Given the description of an element on the screen output the (x, y) to click on. 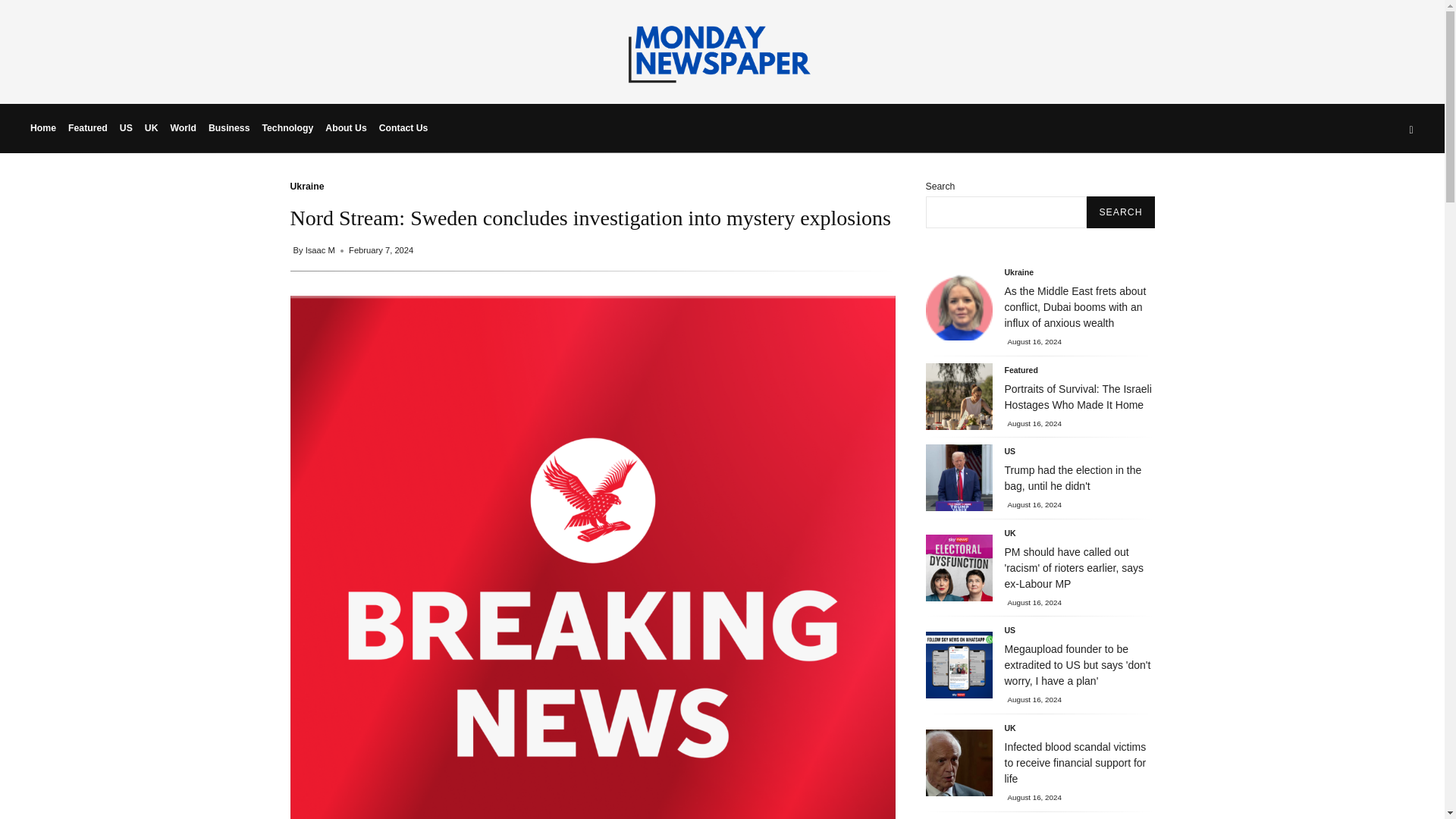
Ukraine (306, 185)
Contact Us (402, 128)
Business (229, 128)
Isaac M (321, 249)
About Us (345, 128)
Monday Newspaper (722, 80)
Technology (287, 128)
Isaac M (321, 249)
Featured (87, 128)
